Given the description of an element on the screen output the (x, y) to click on. 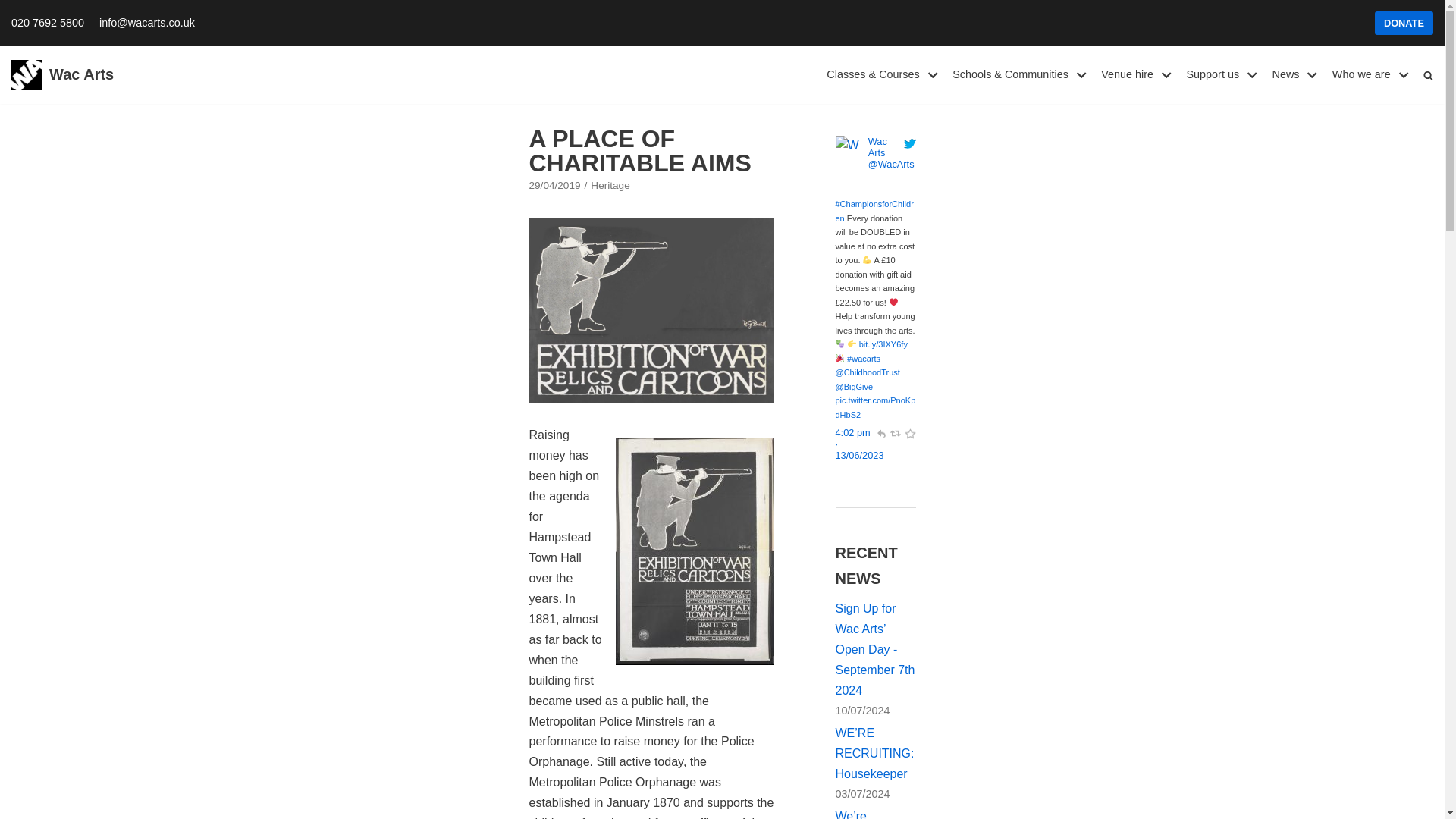
DONATE (1403, 23)
Wac Arts (848, 185)
020 7692 5800 (47, 22)
Skip to content (15, 7)
Wac Arts (62, 74)
Who we are (1372, 74)
Venue hire (1137, 74)
News (1295, 74)
Support us (1223, 74)
Wac Arts (890, 163)
Wac Arts (62, 74)
